Given the description of an element on the screen output the (x, y) to click on. 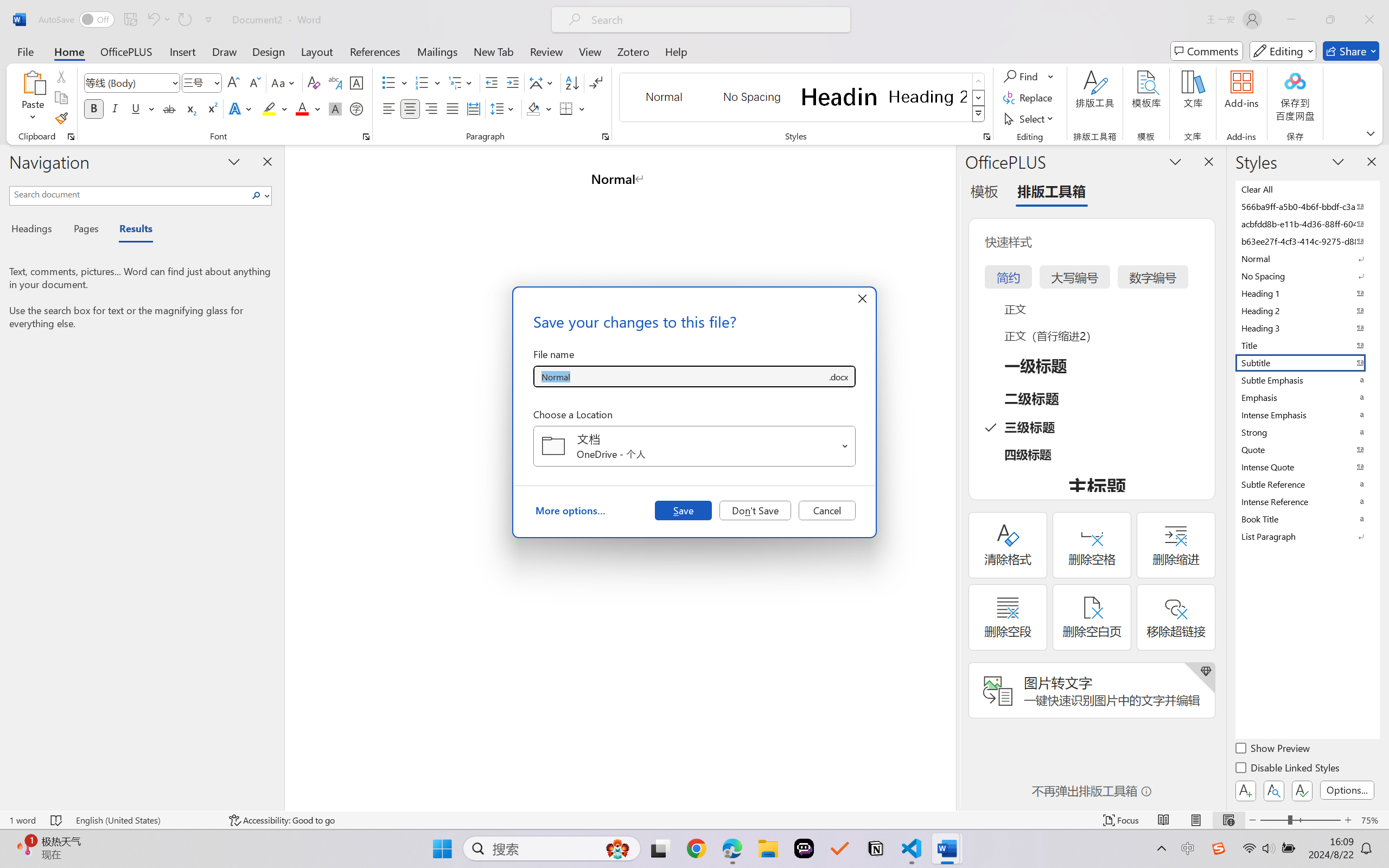
View (589, 51)
Task Pane Options (1175, 161)
Review (546, 51)
Quick Access Toolbar (127, 19)
Heading 3 (1306, 327)
Shading RGB(0, 0, 0) (533, 108)
Save as type (837, 376)
List Paragraph (1306, 536)
Poe (804, 848)
Show/Hide Editing Marks (595, 82)
Clear All (1306, 188)
